Given the description of an element on the screen output the (x, y) to click on. 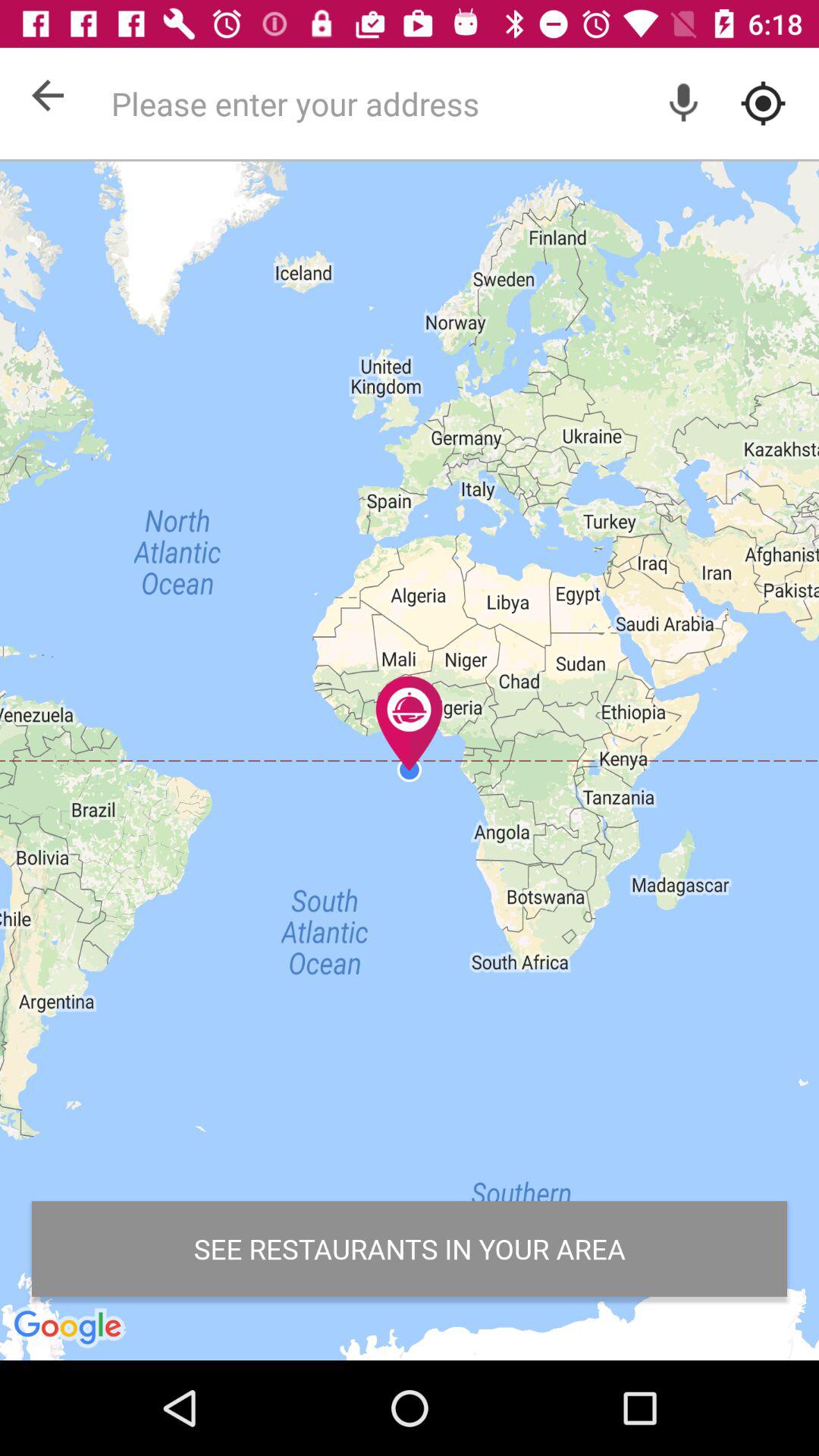
go back (47, 95)
